Given the description of an element on the screen output the (x, y) to click on. 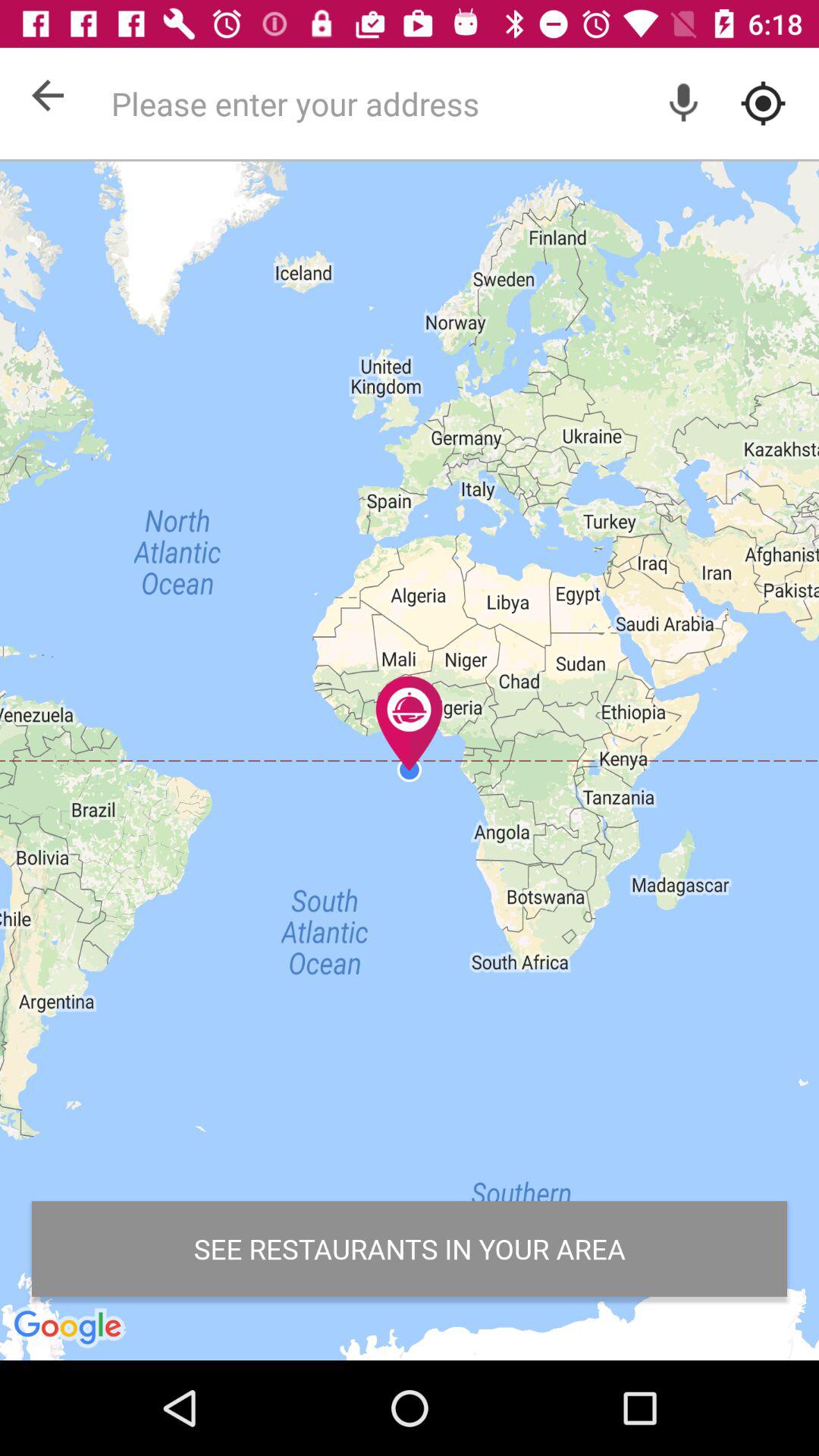
go back (47, 95)
